Given the description of an element on the screen output the (x, y) to click on. 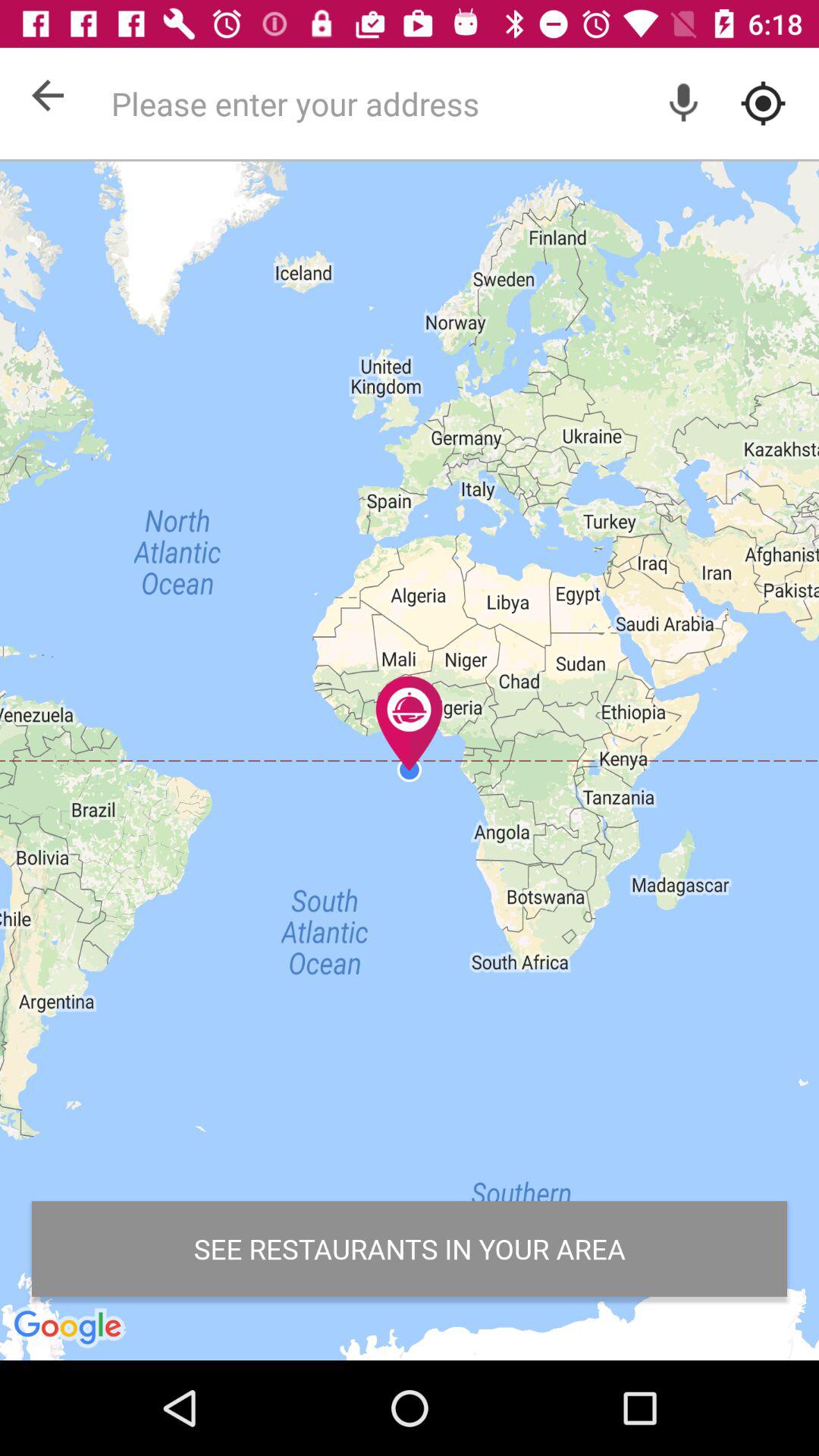
go back (47, 95)
